Given the description of an element on the screen output the (x, y) to click on. 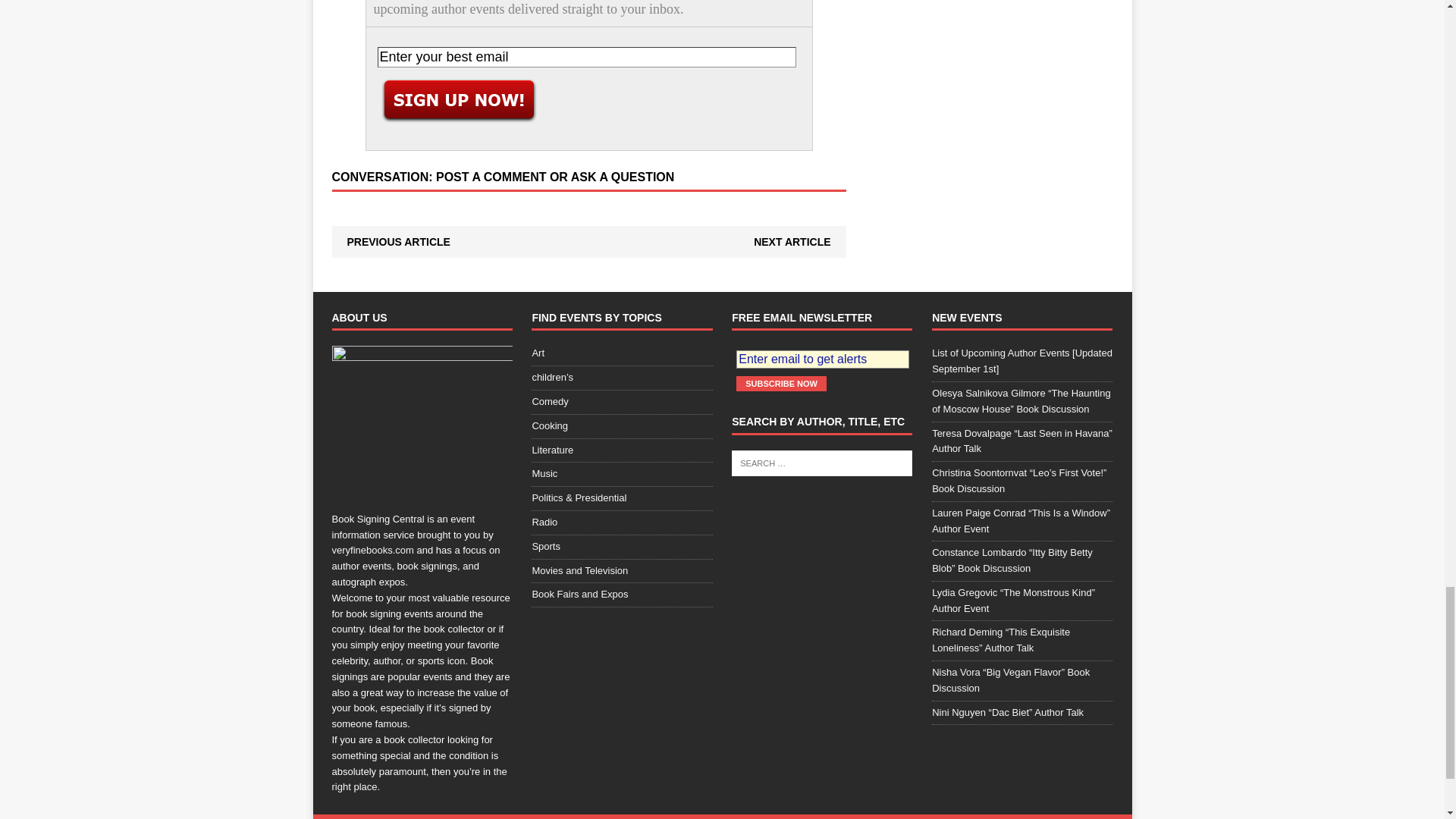
Enter email to get alerts (822, 359)
Subscribe Now (781, 383)
Enter your best email (586, 56)
